Given the description of an element on the screen output the (x, y) to click on. 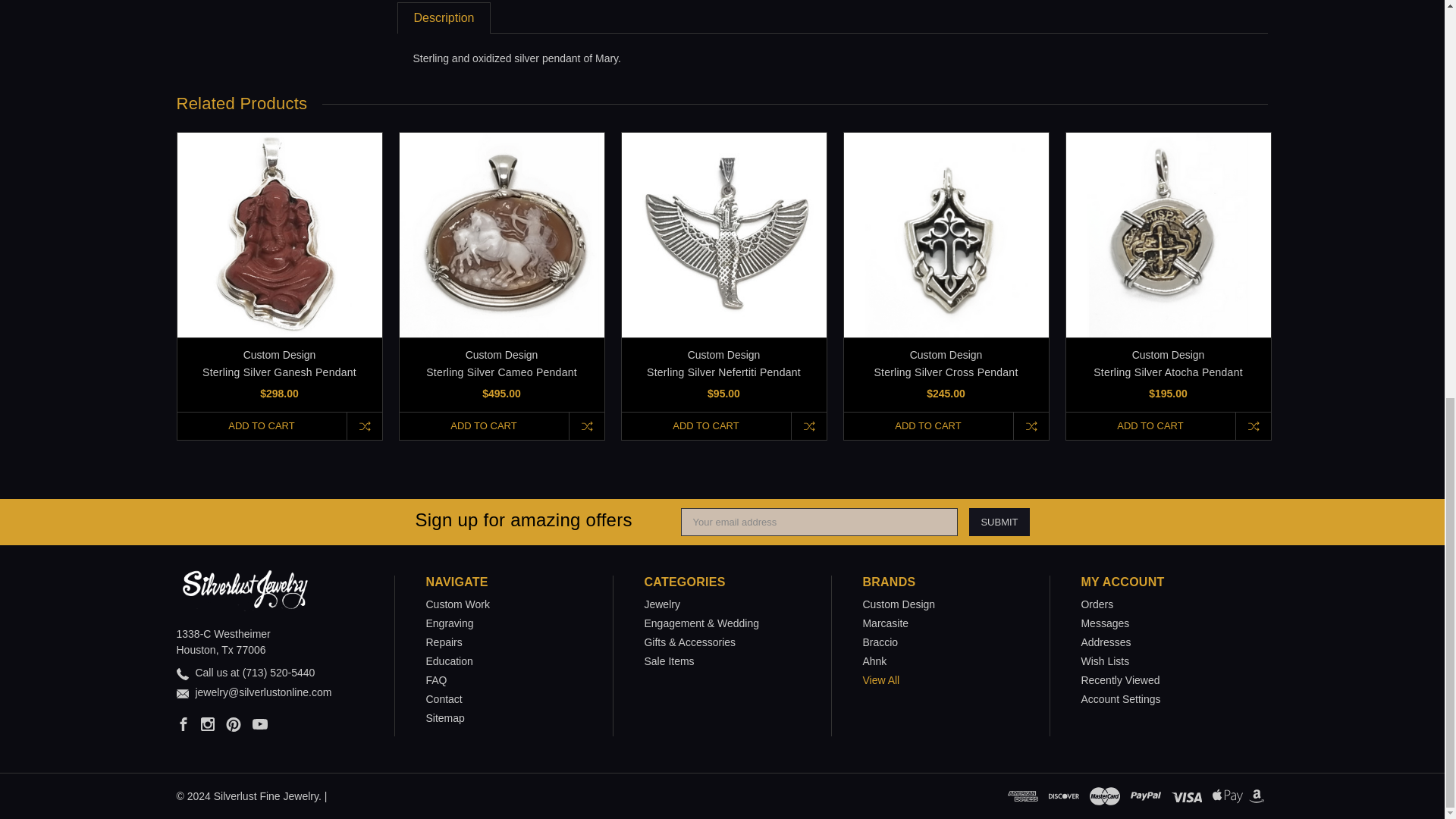
Sterling Silver Cameo Pendant (501, 234)
Sterling Silver Nefertiti Pendant (724, 234)
Submit (999, 521)
Sterling Silver Ganesh Pendant (279, 234)
Sterling Silver Atocha Pendant (1168, 234)
Silverlust Fine Jewelry (244, 589)
Sterling Silver Cross Pendant (945, 234)
